Given the description of an element on the screen output the (x, y) to click on. 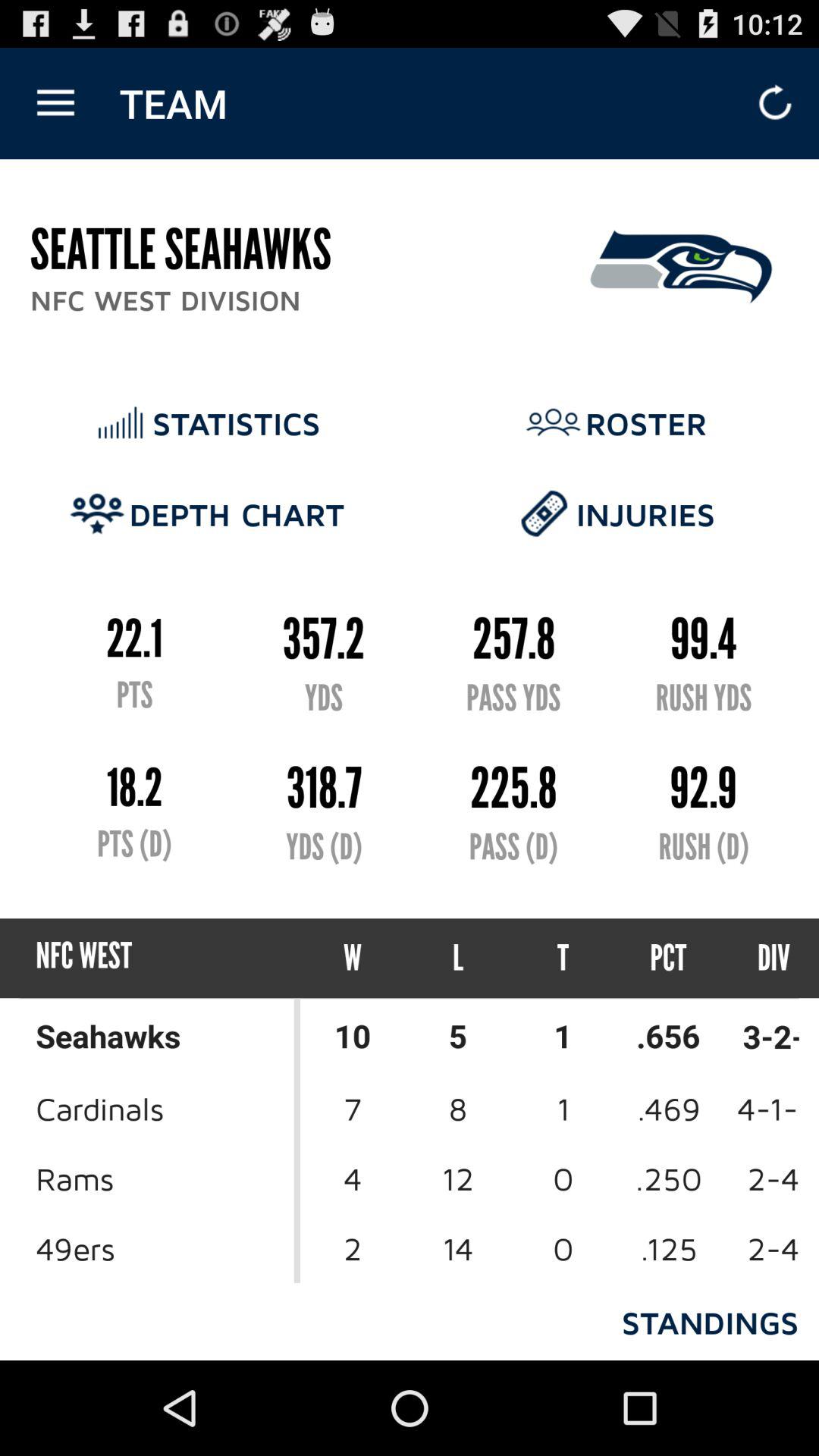
tap the icon to the right of the pct (760, 958)
